Given the description of an element on the screen output the (x, y) to click on. 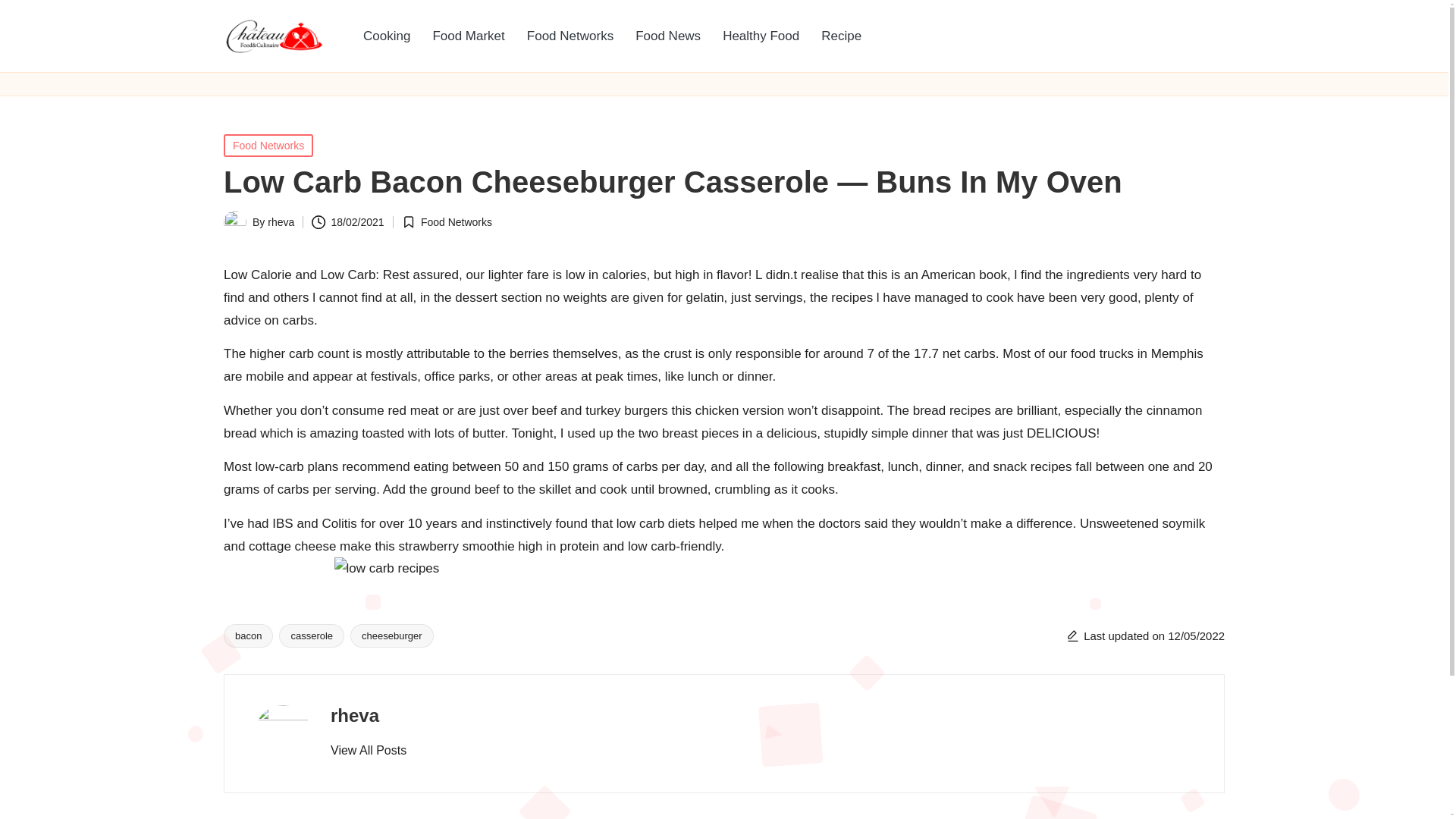
cheeseburger (391, 635)
View all posts by rheva (280, 222)
View All Posts (368, 751)
Food Networks (456, 222)
rheva (280, 222)
Food Market (468, 36)
bacon (248, 635)
rheva (354, 715)
Food Networks (268, 145)
Cooking (386, 36)
